Given the description of an element on the screen output the (x, y) to click on. 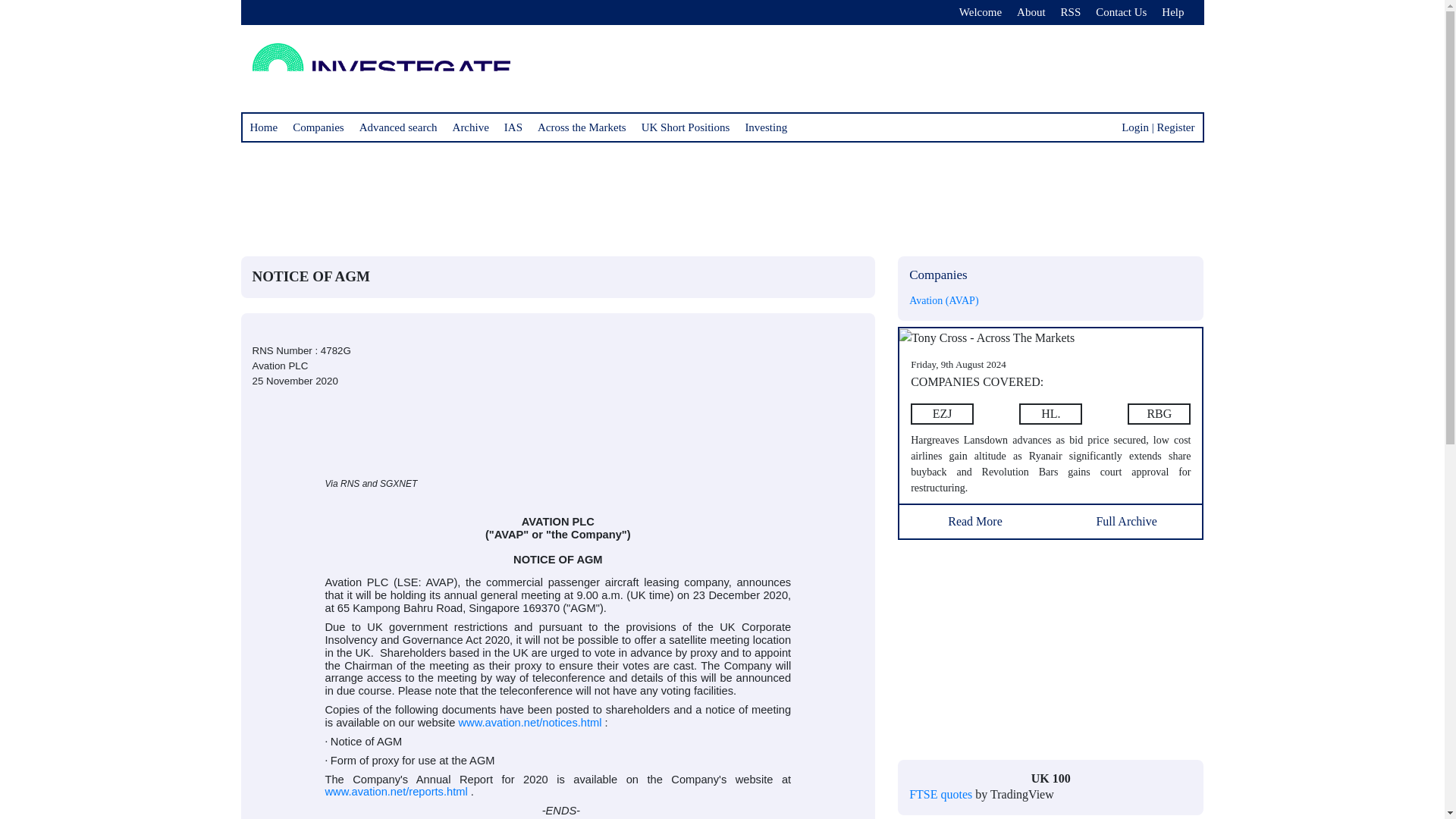
About (1030, 12)
Companies (318, 127)
Read the full Article HERE (1051, 463)
RSS (1070, 12)
Help (1172, 12)
Home (264, 127)
Read the full Article HERE (942, 414)
UK Short Positions (685, 127)
Archive (470, 127)
Advanced search (398, 127)
